Given the description of an element on the screen output the (x, y) to click on. 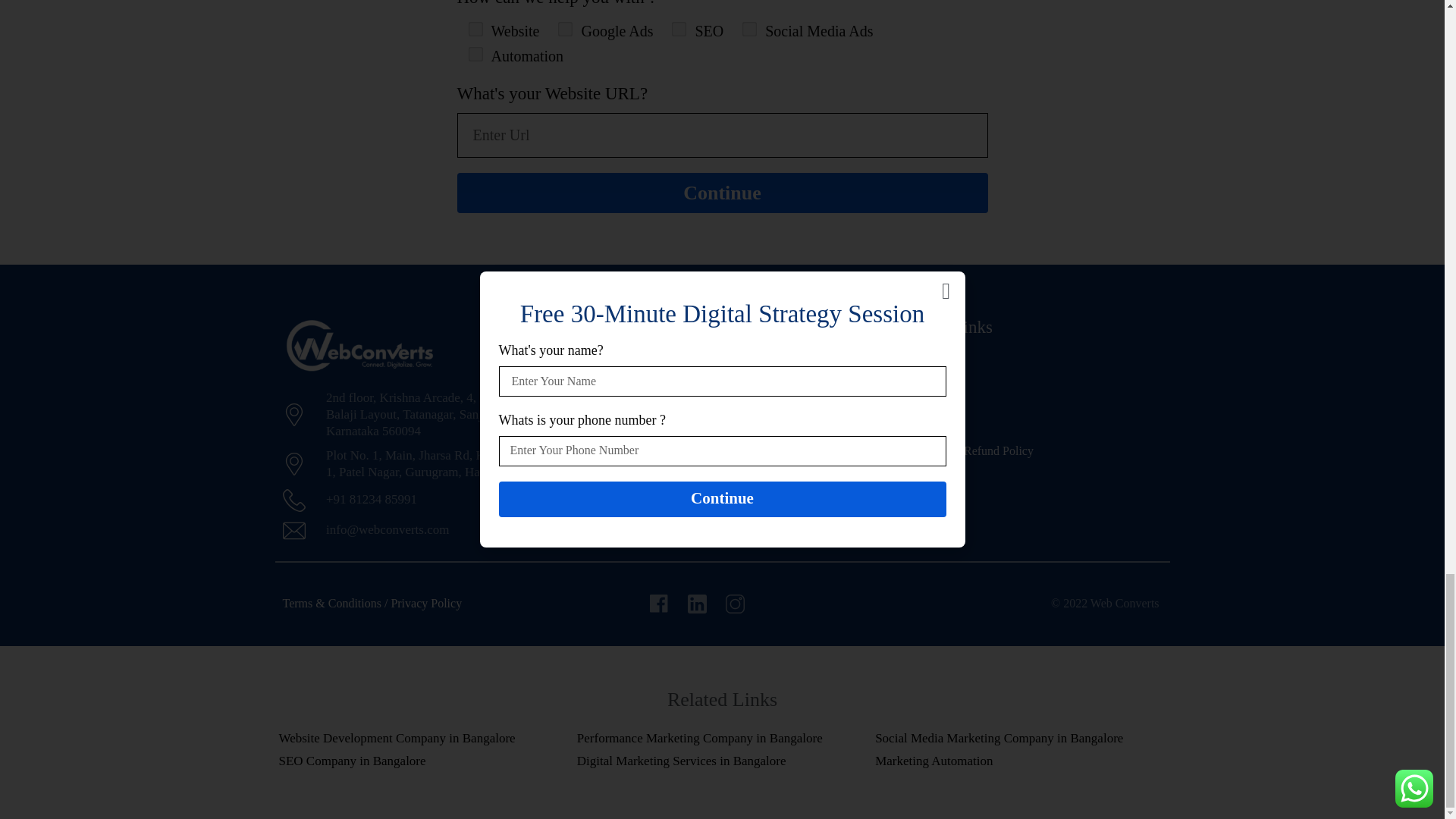
Google Ads (562, 26)
SEO (676, 26)
Website  (472, 26)
Social Media Ads (747, 26)
Automation (472, 51)
